Given the description of an element on the screen output the (x, y) to click on. 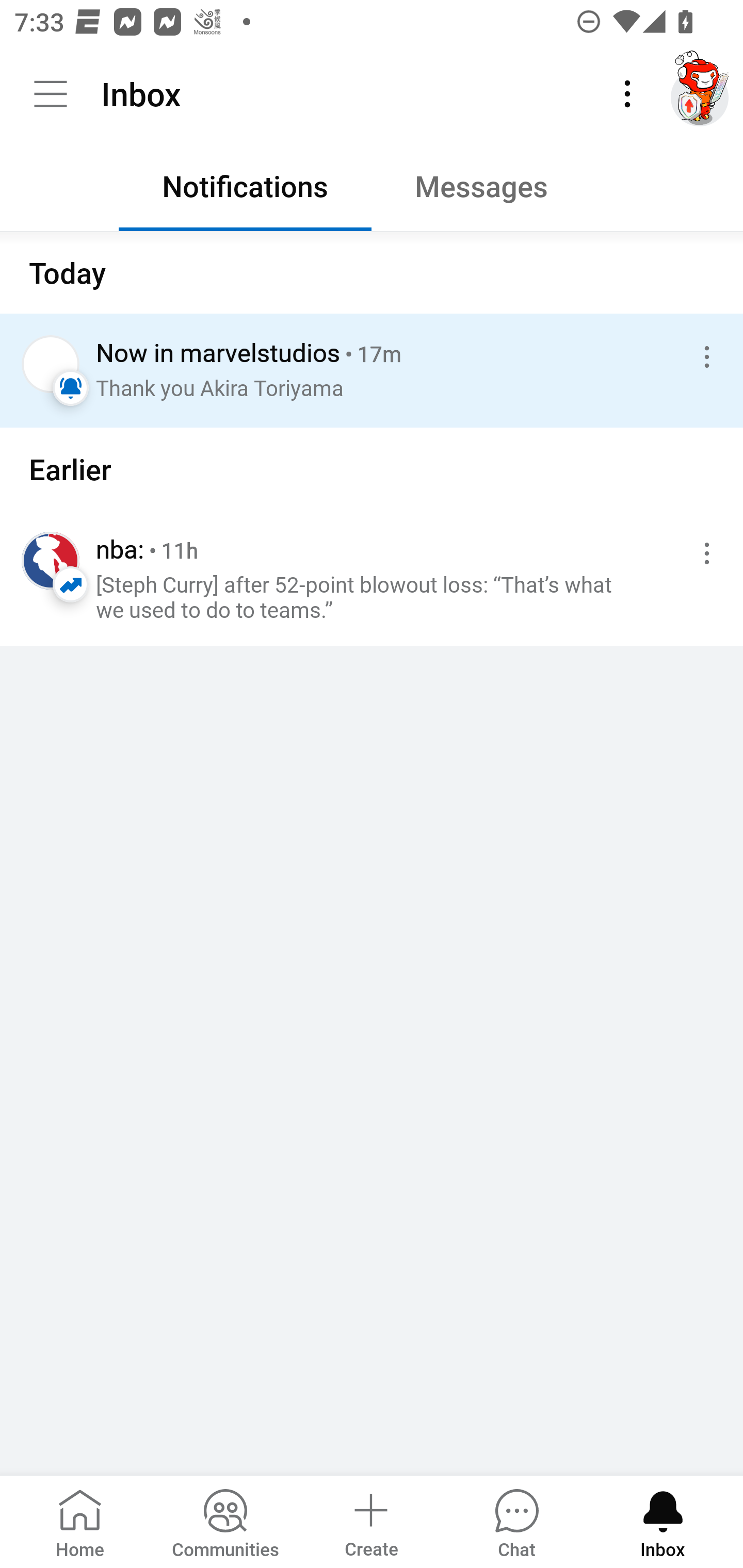
Community menu (50, 93)
More (626, 93)
TestAppium002 account (699, 93)
Messages (497, 191)
More options (703, 356)
More options (703, 553)
Home (80, 1520)
Communities (225, 1520)
Create a post Create (370, 1520)
Chat (516, 1520)
Inbox (662, 1520)
